Given the description of an element on the screen output the (x, y) to click on. 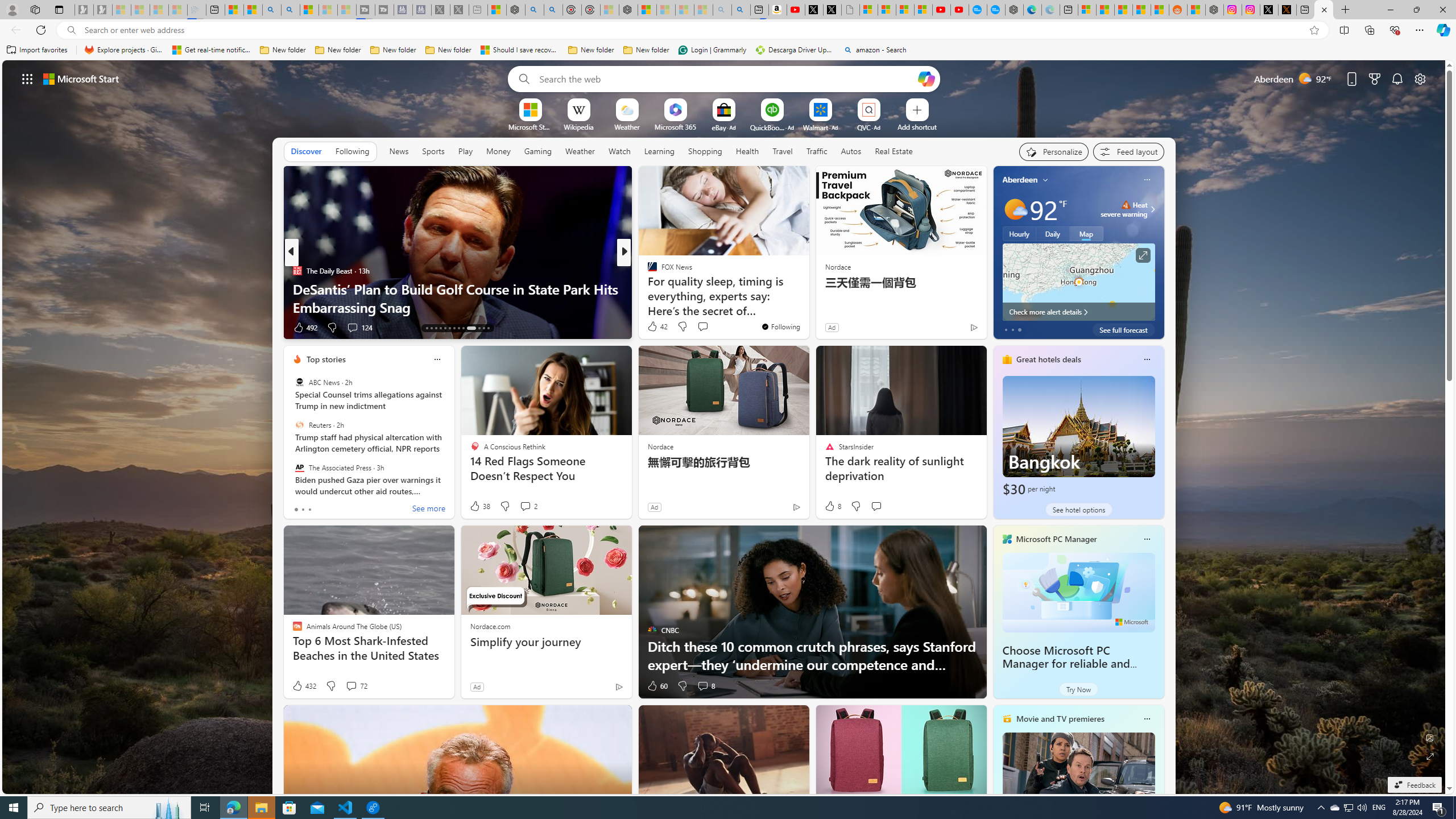
Untitled (850, 9)
Sports (432, 151)
View comments 124 Comment (359, 327)
AutomationID: waffle (27, 78)
Click to see more information (1142, 255)
View comments 1 Comment (6, 327)
X - Sleeping (459, 9)
Try Now (1078, 689)
Play (465, 151)
Wikipedia (578, 126)
My location (1045, 179)
View comments 124 Comment (352, 327)
AutomationID: tab-19 (454, 328)
